Given the description of an element on the screen output the (x, y) to click on. 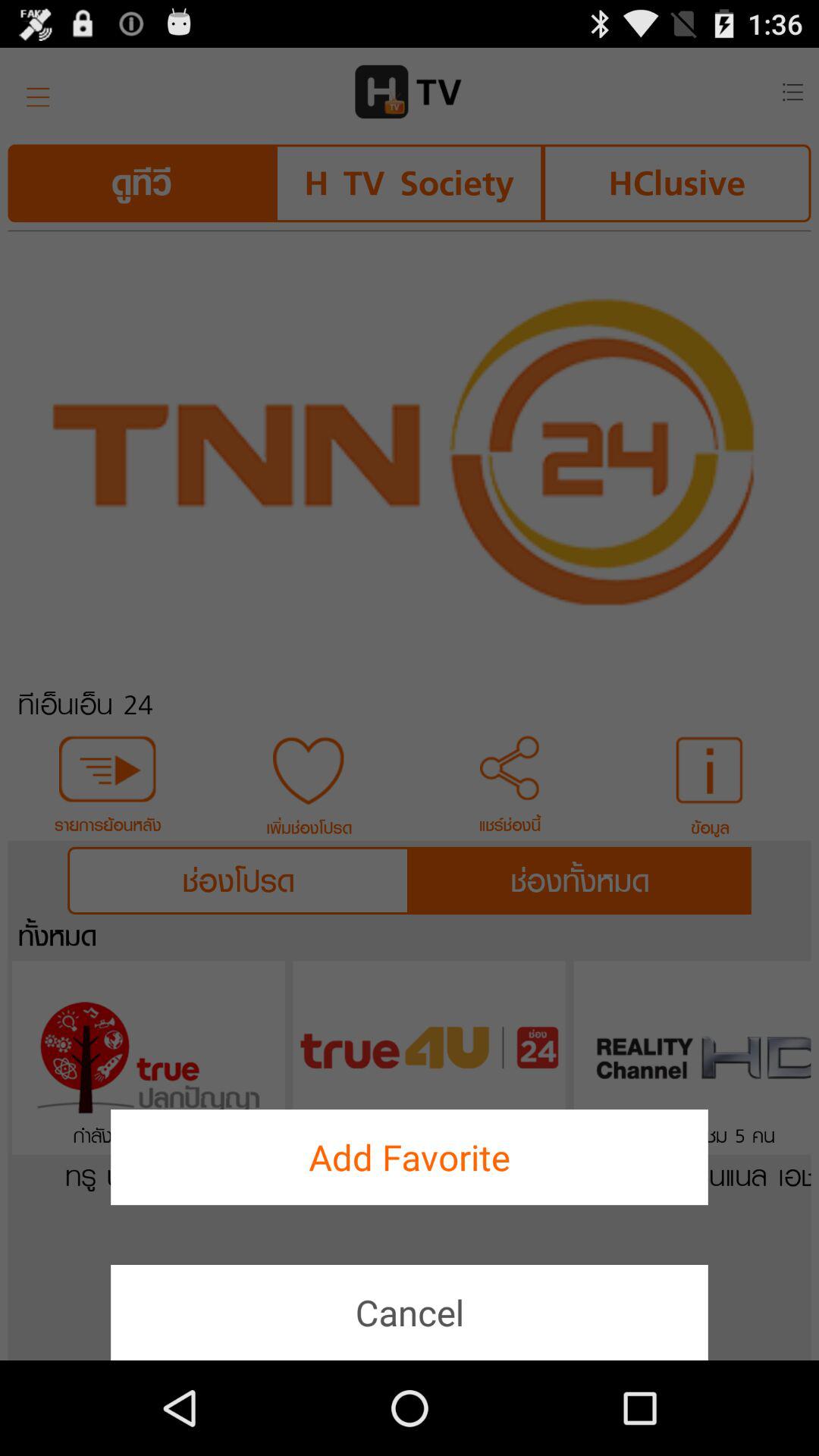
open the cancel item (409, 1312)
